Given the description of an element on the screen output the (x, y) to click on. 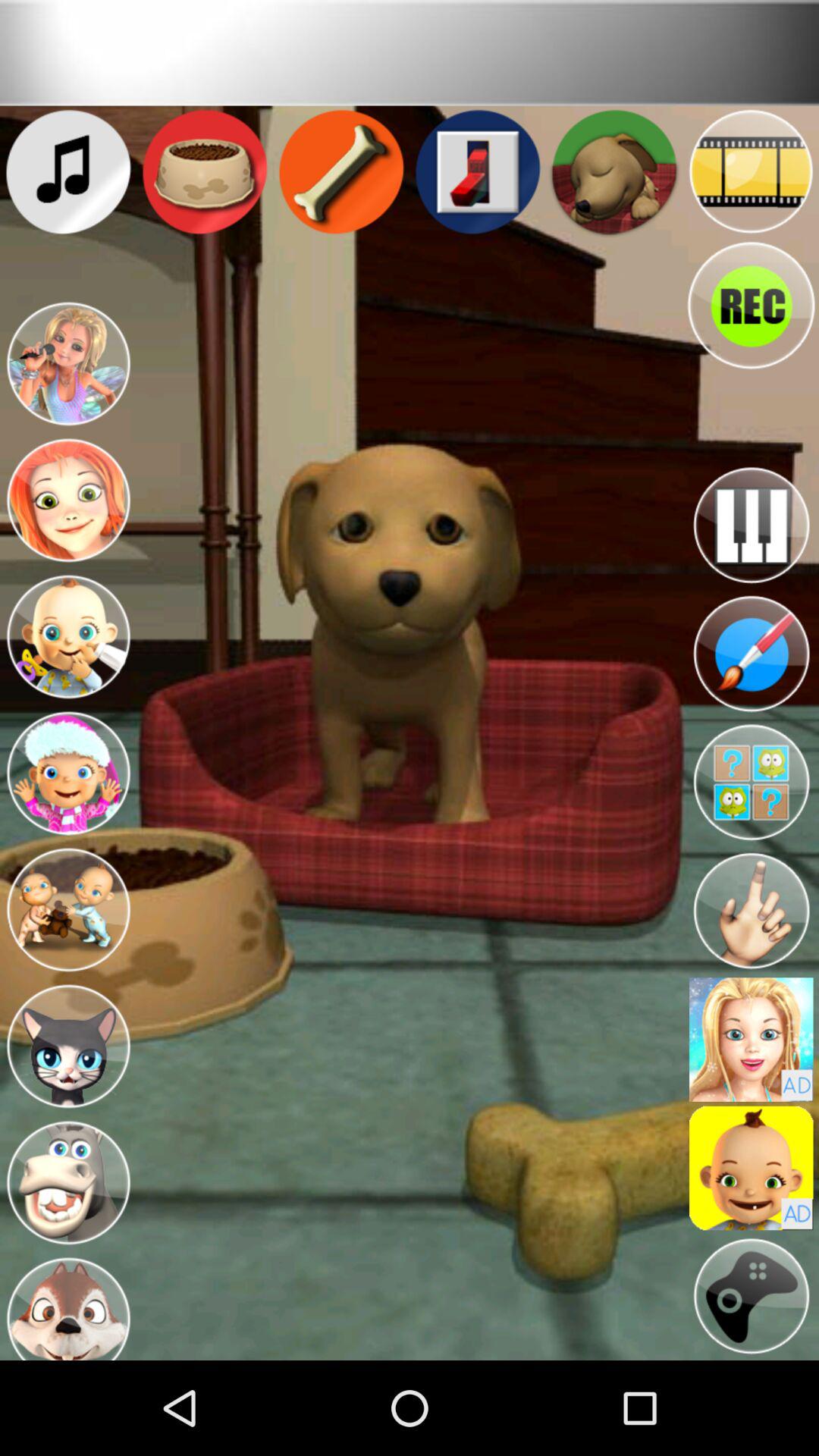
the button is used to open the music options (751, 525)
